Given the description of an element on the screen output the (x, y) to click on. 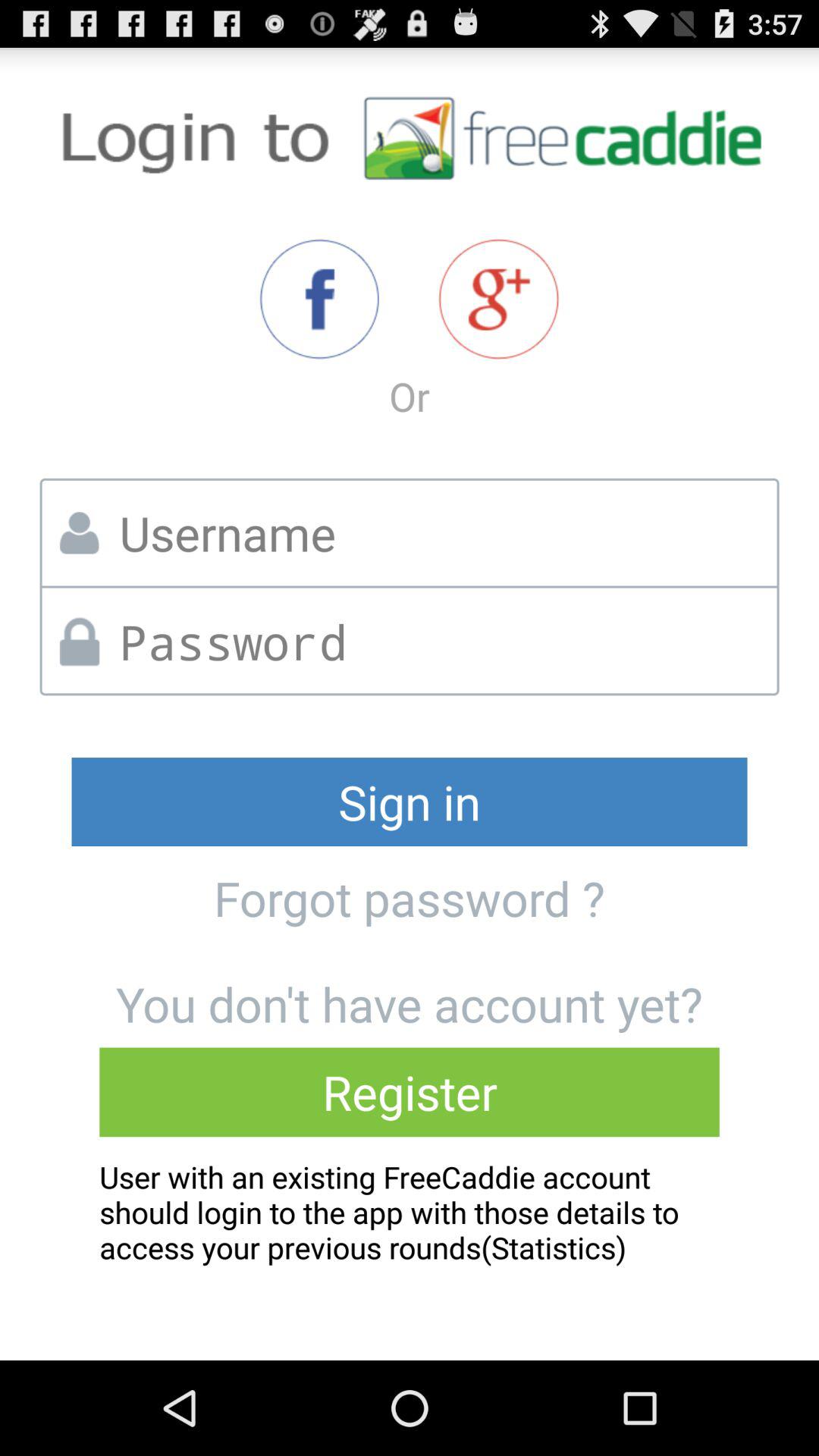
scroll until the register (409, 1091)
